Given the description of an element on the screen output the (x, y) to click on. 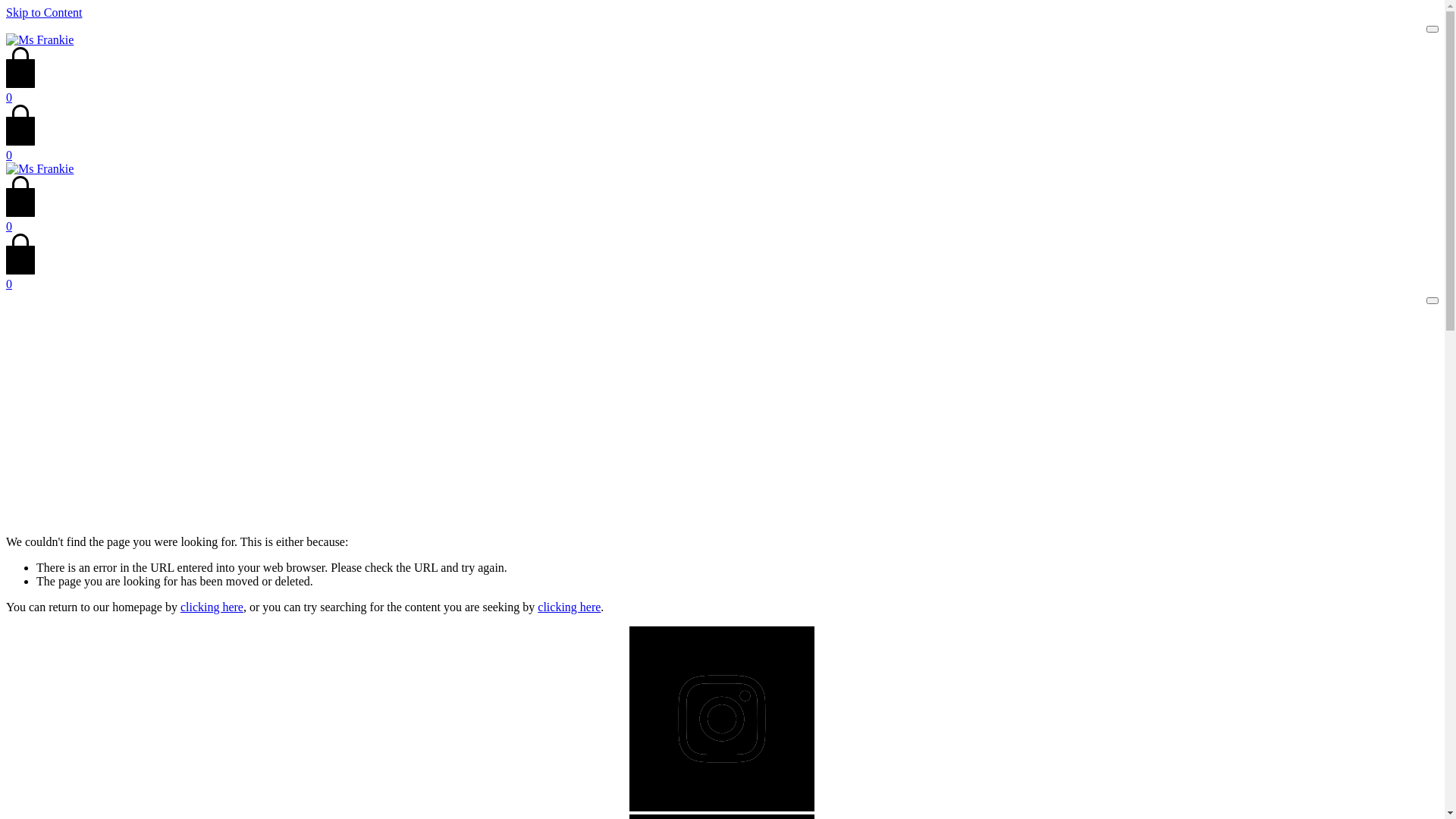
0 Element type: text (722, 90)
0 Element type: text (722, 219)
clicking here Element type: text (211, 606)
0 Element type: text (722, 148)
0 Element type: text (722, 277)
clicking here Element type: text (568, 606)
Skip to Content Element type: text (43, 12)
